Given the description of an element on the screen output the (x, y) to click on. 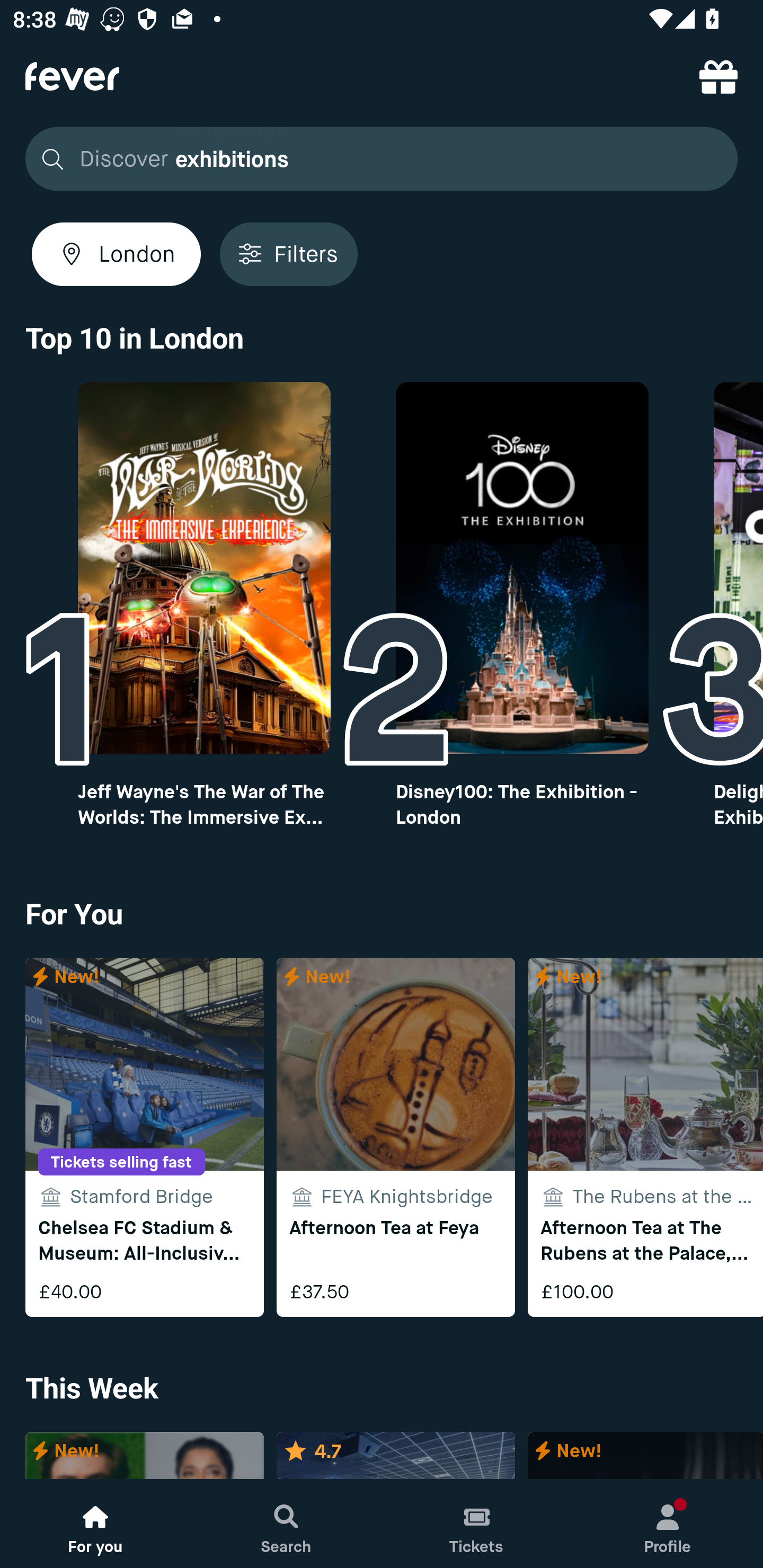
referral (718, 75)
Discover candlelight exhibitions (381, 158)
Discover candlelight exhibitions (376, 158)
London (116, 253)
Filters (288, 253)
Top10 image (203, 568)
Top10 image (521, 568)
Search (285, 1523)
Tickets (476, 1523)
Profile, New notification Profile (667, 1523)
